Given the description of an element on the screen output the (x, y) to click on. 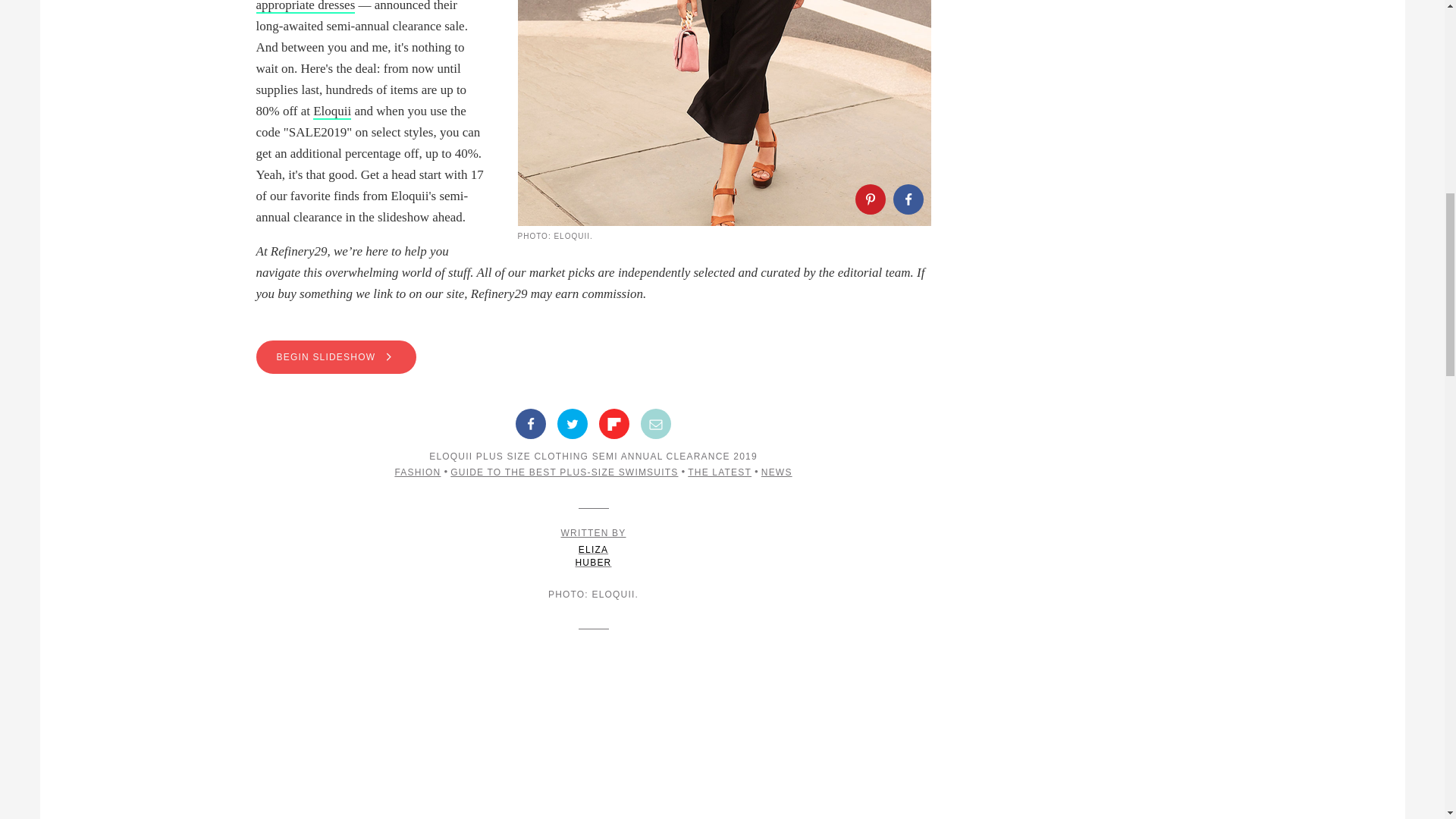
Share on Twitter (572, 423)
Share on Pinterest (870, 199)
Share on Facebook (908, 199)
BEGIN SLIDESHOW (593, 356)
FASHION (417, 471)
Share on Flipboard (613, 423)
GUIDE TO THE BEST PLUS-SIZE SWIMSUITS (563, 471)
Share on Facebook (530, 423)
Eloquii (331, 111)
office appropriate dresses (366, 6)
Share by Email (655, 423)
BEGIN SLIDESHOW (336, 356)
